Given the description of an element on the screen output the (x, y) to click on. 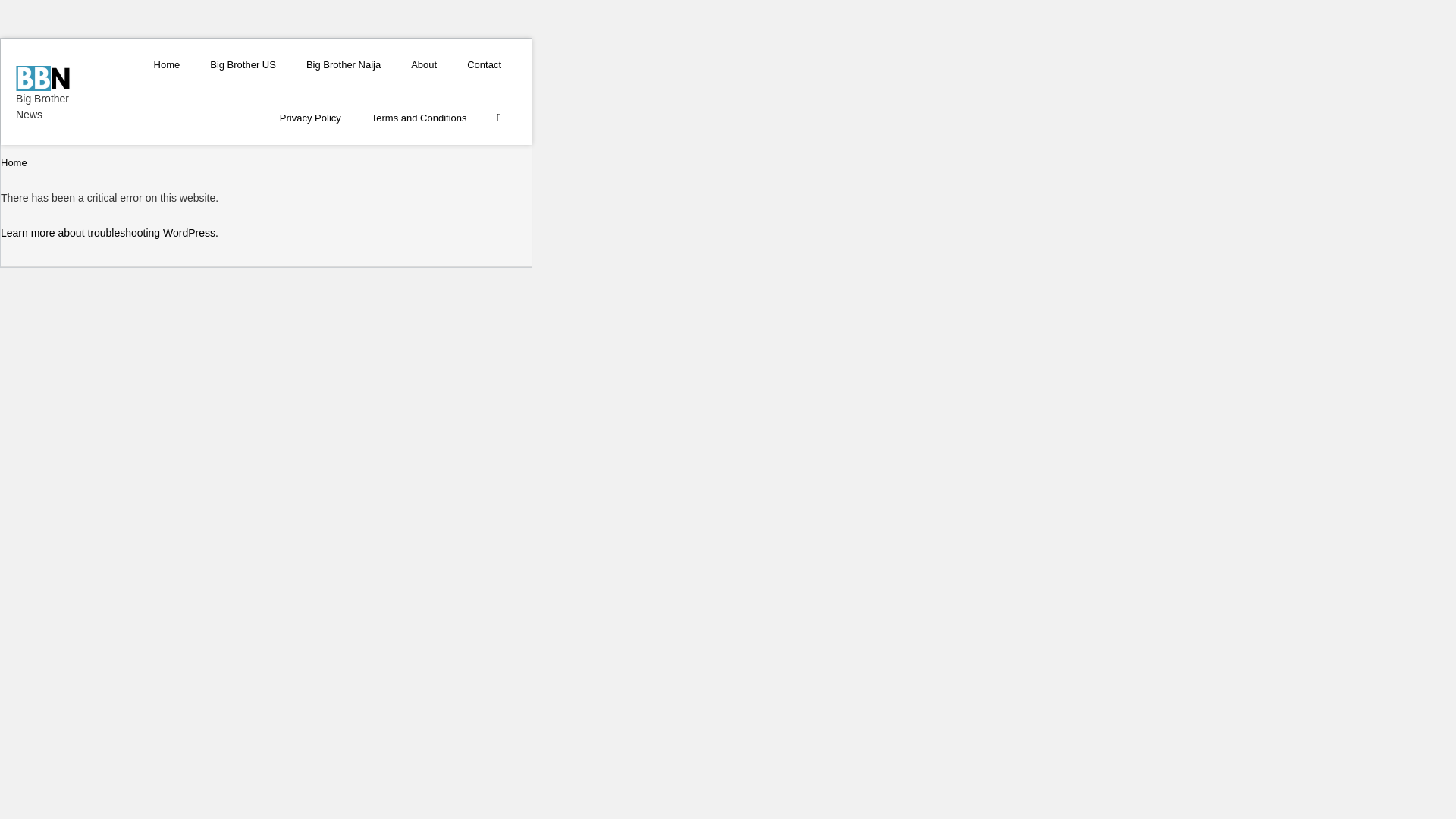
Privacy Policy (310, 117)
Contact (483, 64)
About (423, 64)
Big Brother Naija (343, 64)
Terms and Conditions (418, 117)
Big Brother US (243, 64)
Home (166, 64)
Home (14, 162)
